Given the description of an element on the screen output the (x, y) to click on. 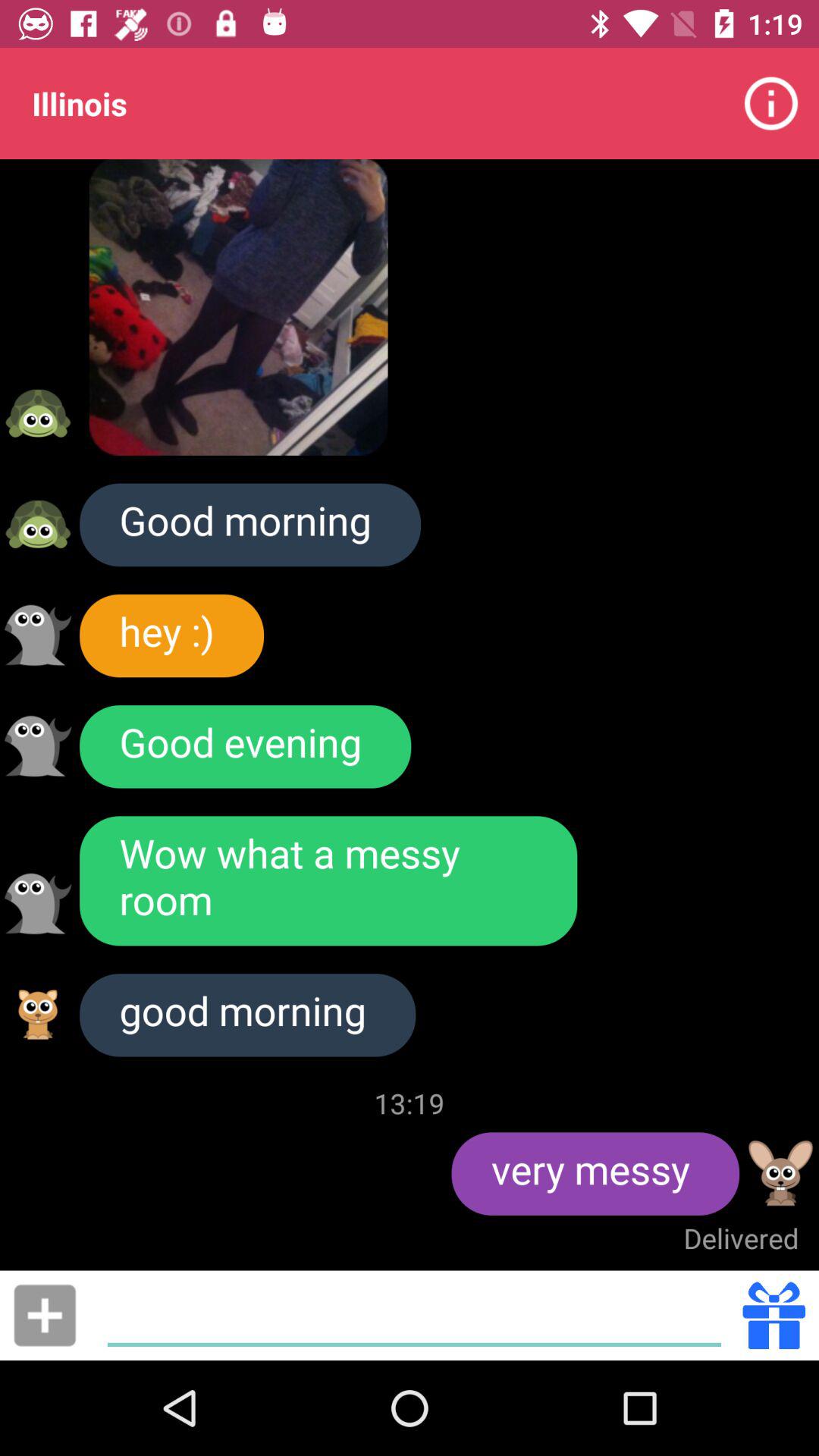
choose the item below the illinois (238, 307)
